Given the description of an element on the screen output the (x, y) to click on. 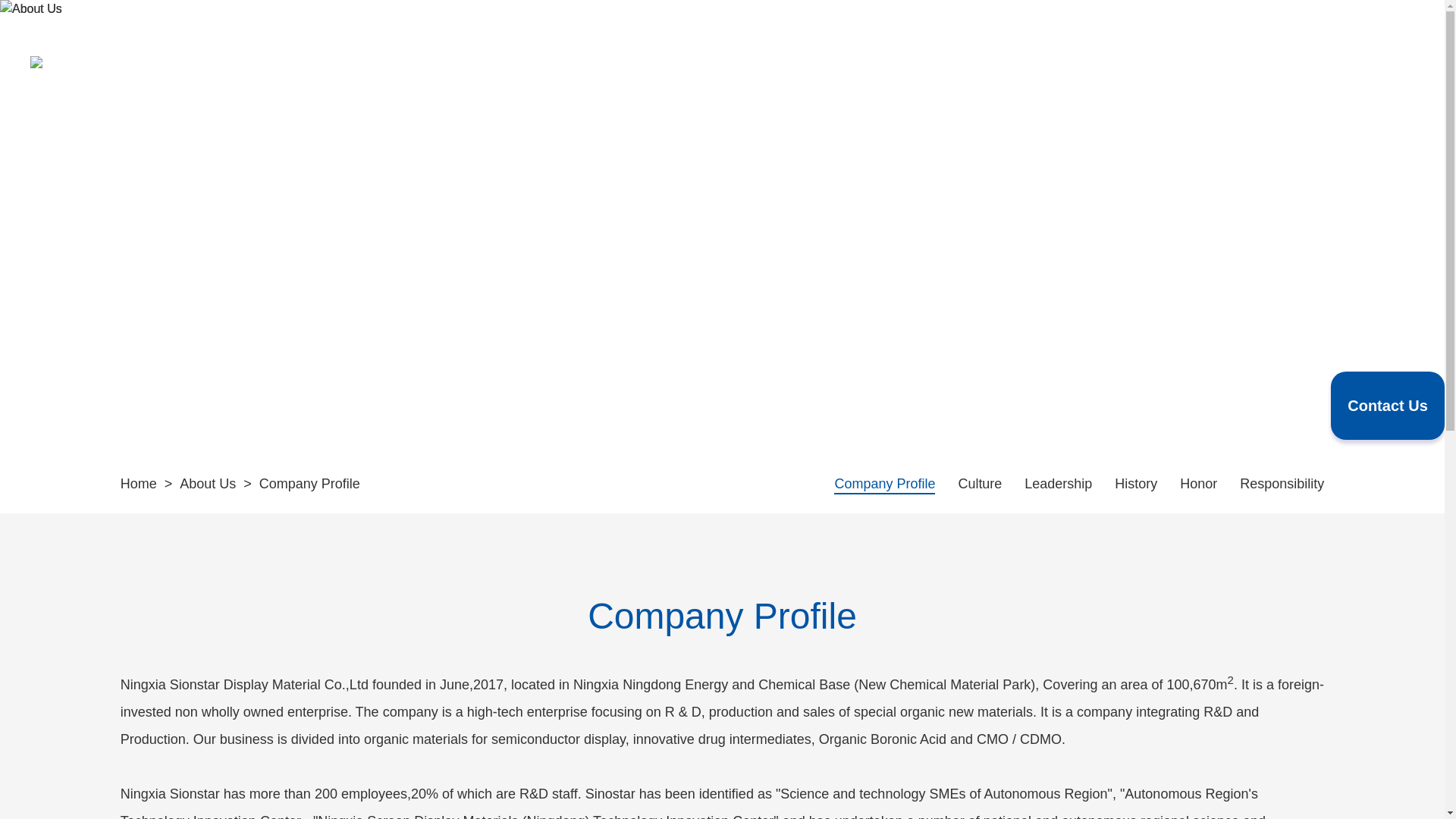
Honor (1198, 484)
Manufacture (791, 75)
Company Profile (884, 484)
History (1136, 484)
Culture (979, 484)
Sustainability (900, 75)
Leadership (1058, 484)
Manufacture (791, 75)
 Sustainability (900, 75)
